Given the description of an element on the screen output the (x, y) to click on. 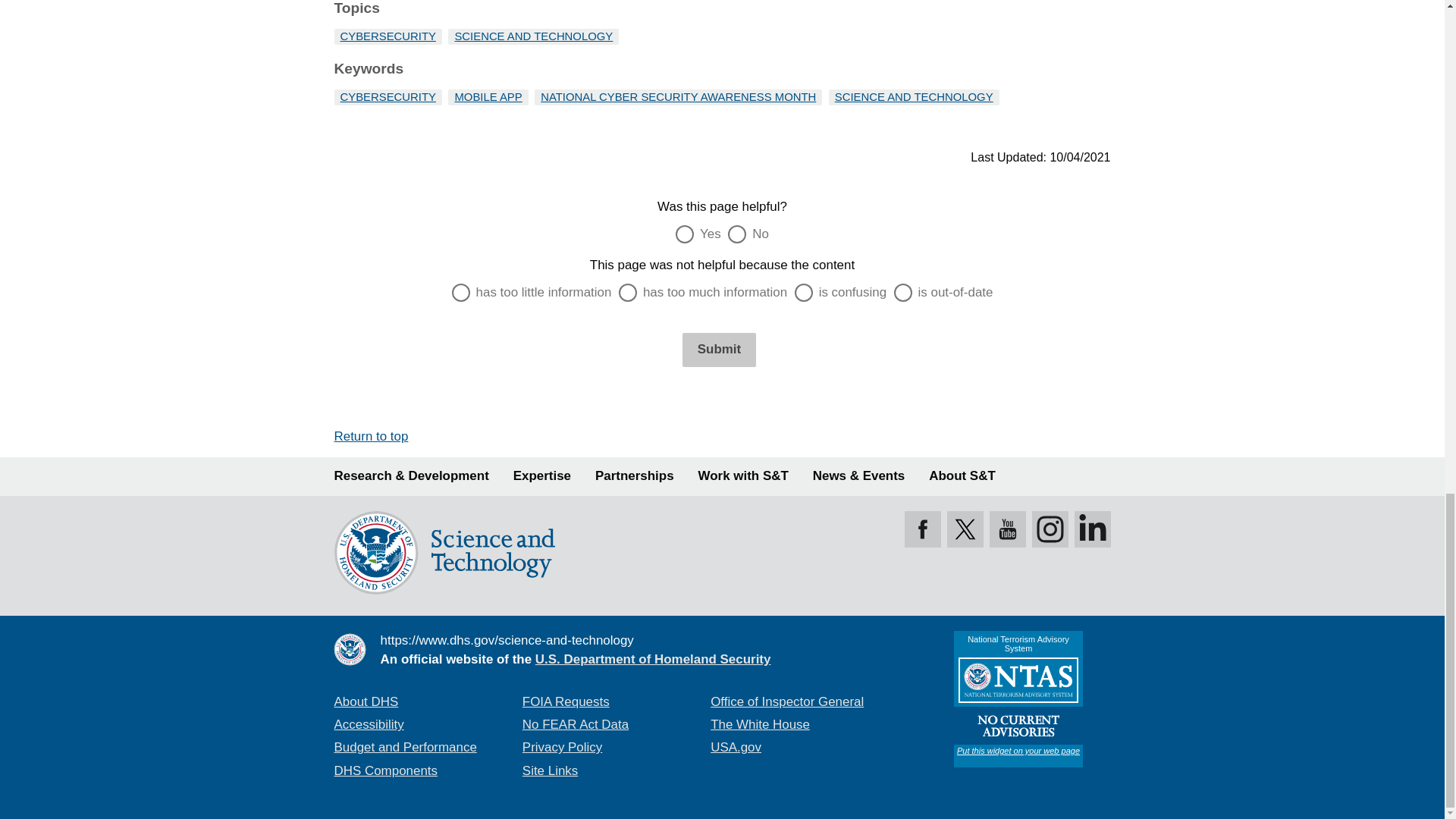
DHS Components (385, 769)
National Terrorism Advisory System (1018, 698)
Submit (718, 349)
Partnerships (634, 476)
Expertise (541, 476)
CYBERSECURITY (387, 36)
Submit (718, 349)
CYBERSECURITY (387, 96)
Our Work (410, 476)
NATIONAL CYBER SECURITY AWARENESS MONTH (677, 96)
